Given the description of an element on the screen output the (x, y) to click on. 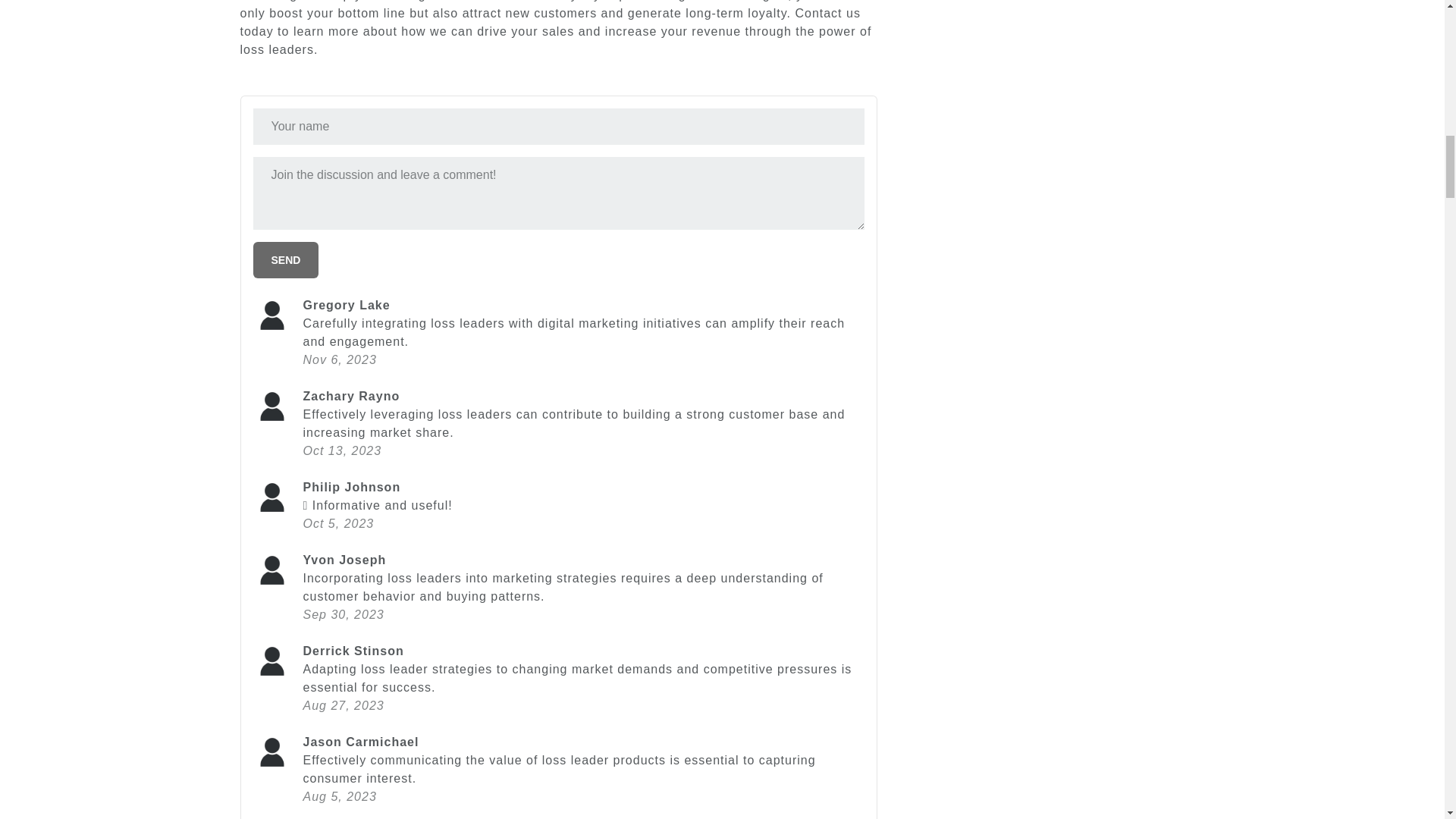
Send (285, 259)
Send (285, 259)
